Given the description of an element on the screen output the (x, y) to click on. 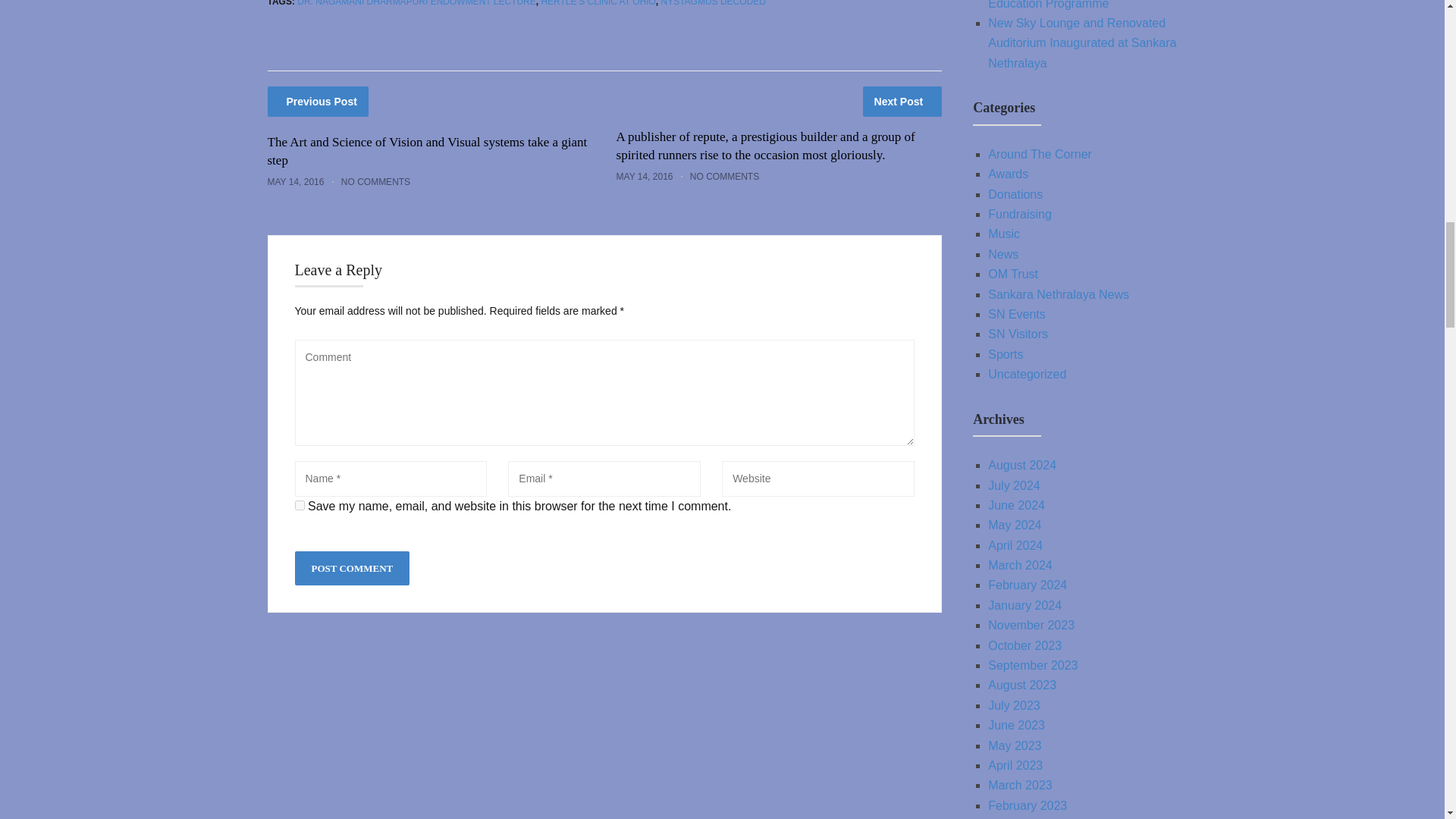
Next Post (902, 101)
Music (1004, 233)
NO COMMENTS (375, 181)
Awards (1007, 173)
Donations (1015, 194)
SN Events (1016, 314)
Fundraising (1019, 214)
DR. NAGAMANI DHARMAPURI ENDOWMENT LECTURE (416, 3)
